Given the description of an element on the screen output the (x, y) to click on. 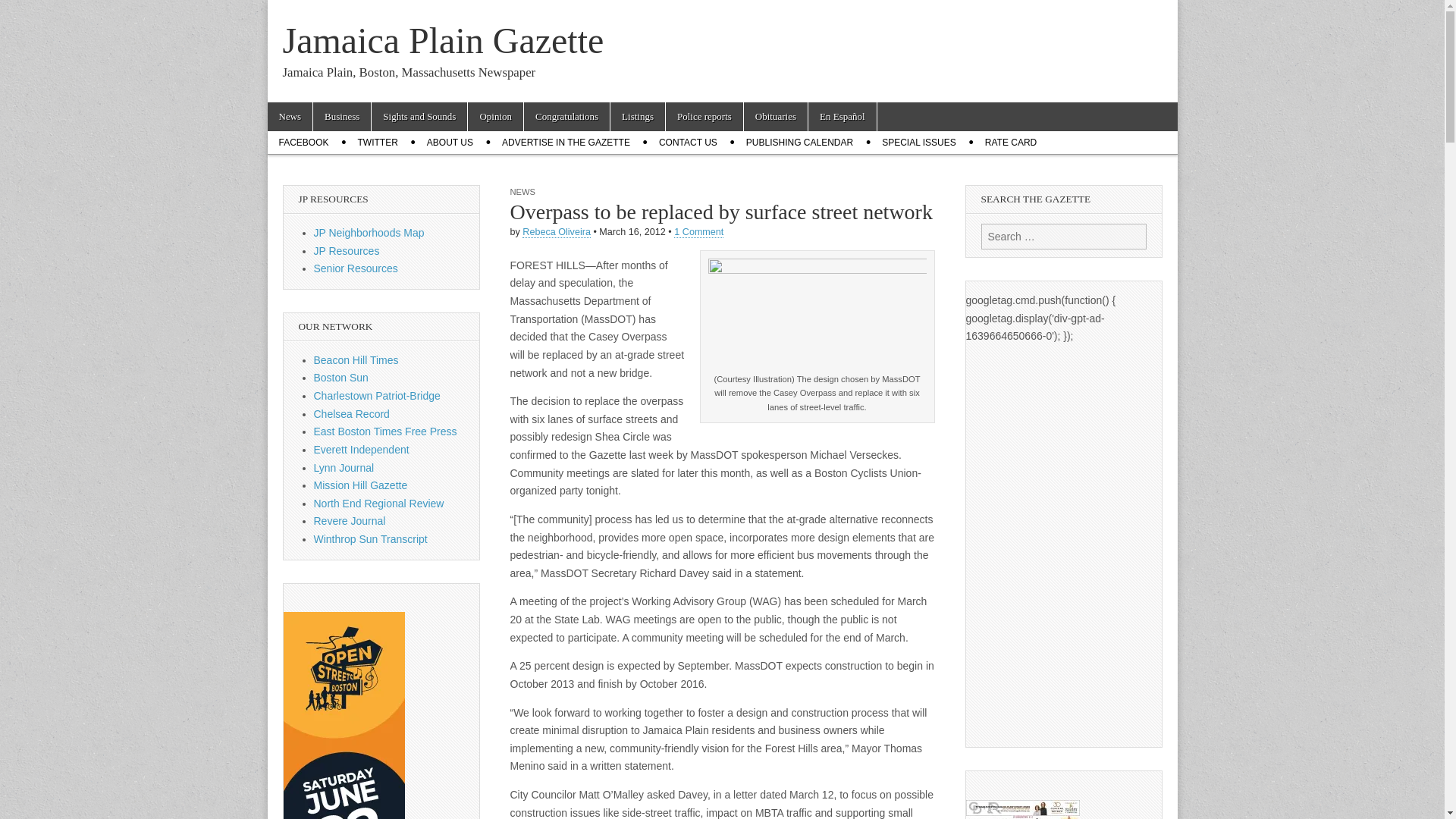
Boston Sun (341, 377)
Police reports (703, 116)
Senior Resources (355, 268)
Listings (637, 116)
Congratulations (567, 116)
PUBLISHING CALENDAR (799, 142)
NEWS (522, 191)
TWITTER (377, 142)
Beacon Hill Times (356, 359)
CONTACT US (688, 142)
JP Resources (347, 250)
Business (342, 116)
Obituaries (776, 116)
1 Comment (698, 232)
